Given the description of an element on the screen output the (x, y) to click on. 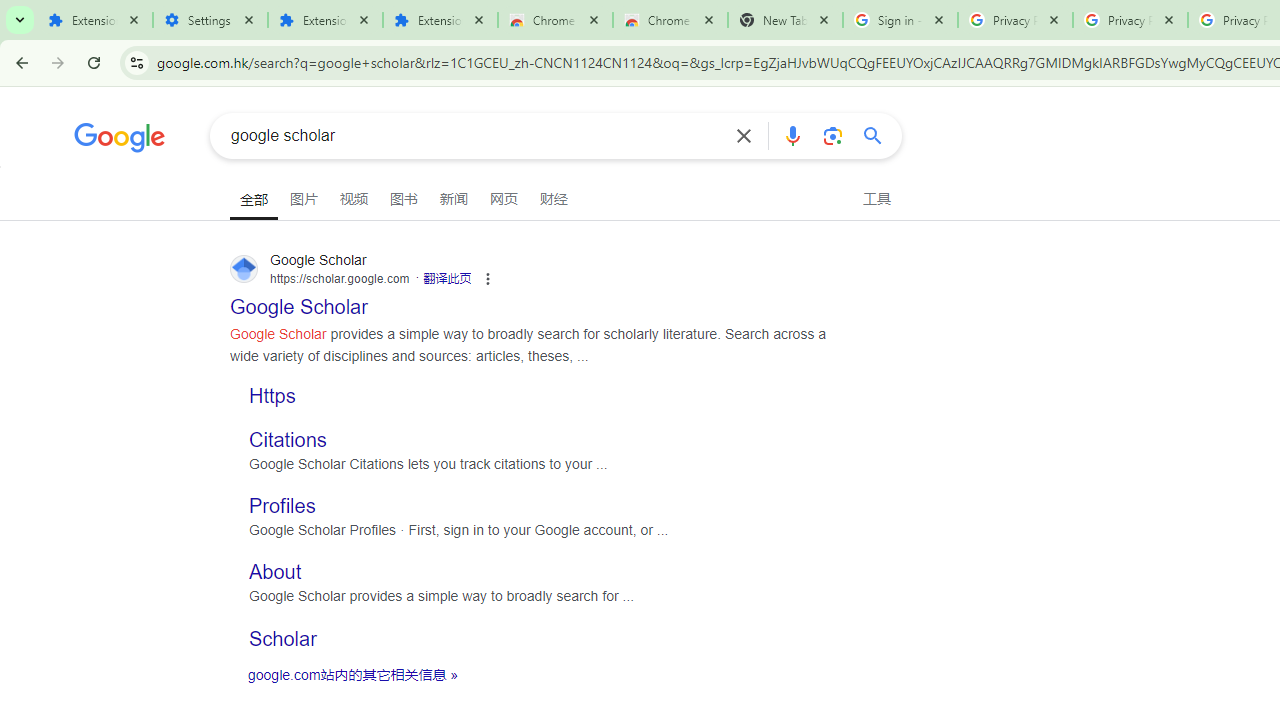
Https (272, 394)
Citations (287, 438)
 Google Scholar Google Scholar https://scholar.google.com (299, 300)
